Given the description of an element on the screen output the (x, y) to click on. 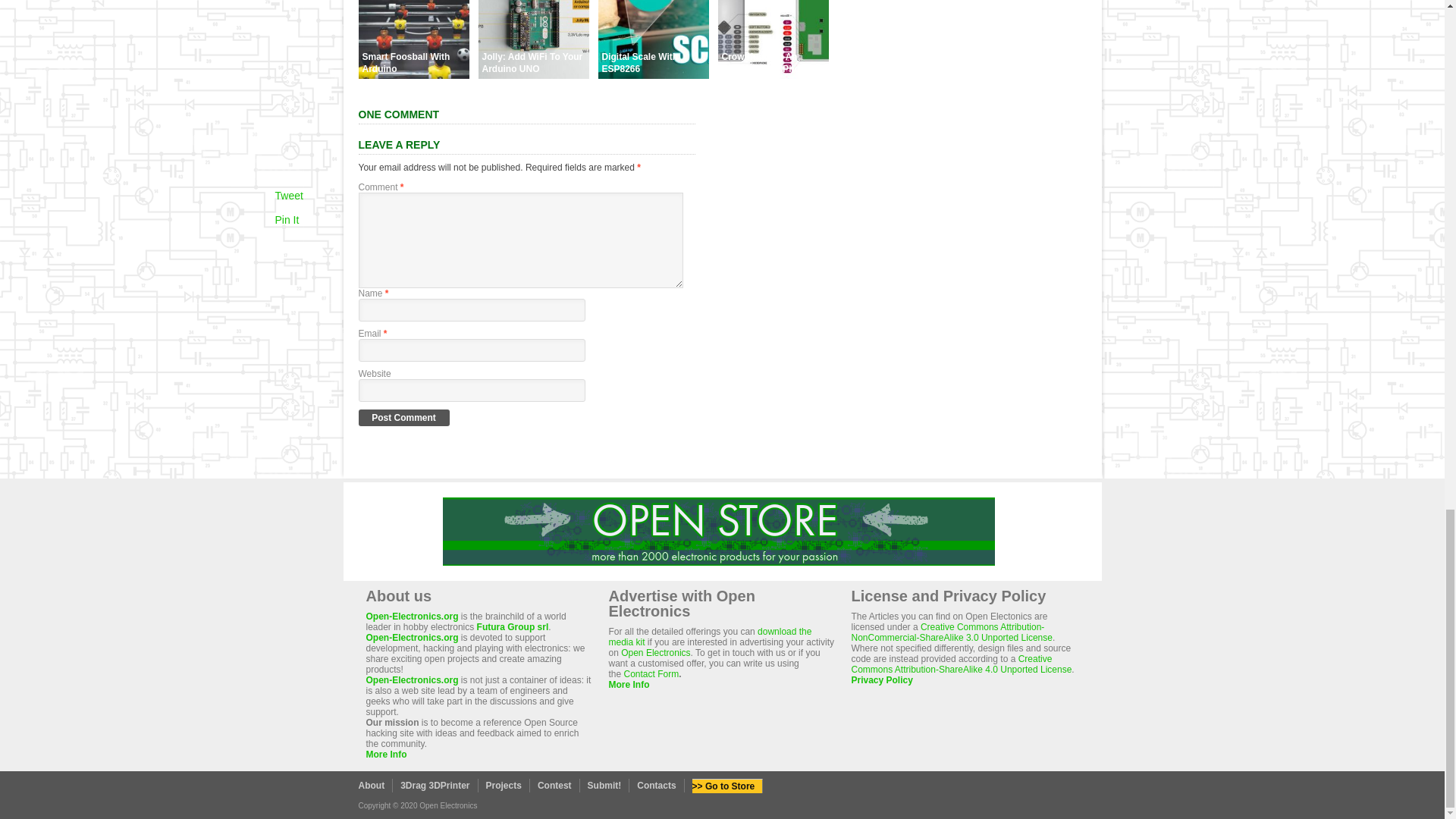
Digital scale with ESP8266 (651, 74)
Post Comment (403, 417)
Crowdfunding an ESP32-Based Phone (772, 74)
Jolly: add WiFi to your Arduino UNO (532, 74)
Smart foosball with Arduino (413, 74)
